Given the description of an element on the screen output the (x, y) to click on. 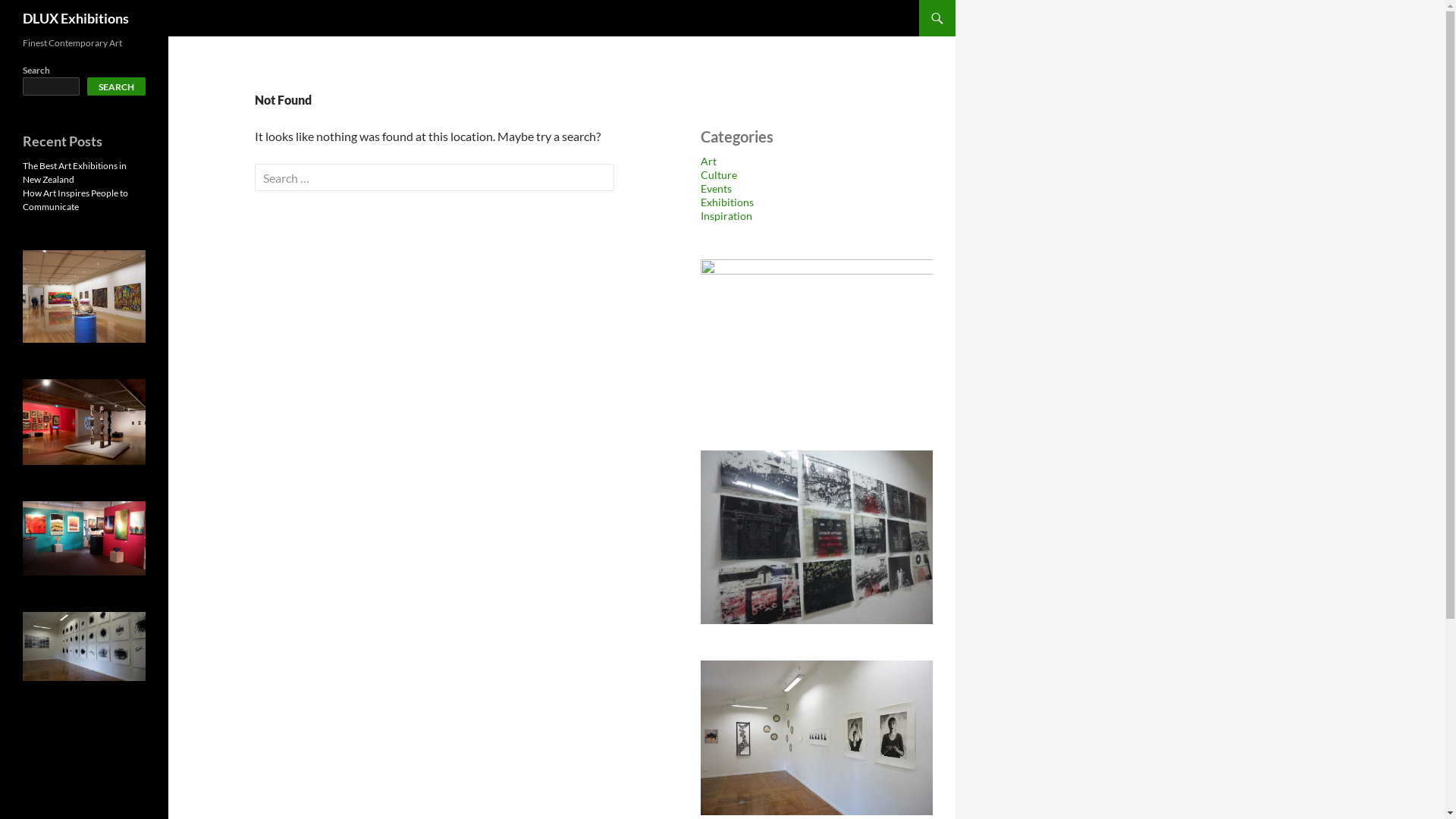
Inspiration Element type: text (726, 215)
SEARCH Element type: text (116, 86)
DLUX Exhibitions Element type: text (75, 18)
Exhibitions Element type: text (726, 201)
How Art Inspires People to Communicate Element type: text (75, 199)
Events Element type: text (715, 188)
Art Element type: text (708, 160)
Search Element type: text (40, 13)
The Best Art Exhibitions in New Zealand Element type: text (74, 172)
Culture Element type: text (718, 174)
